Given the description of an element on the screen output the (x, y) to click on. 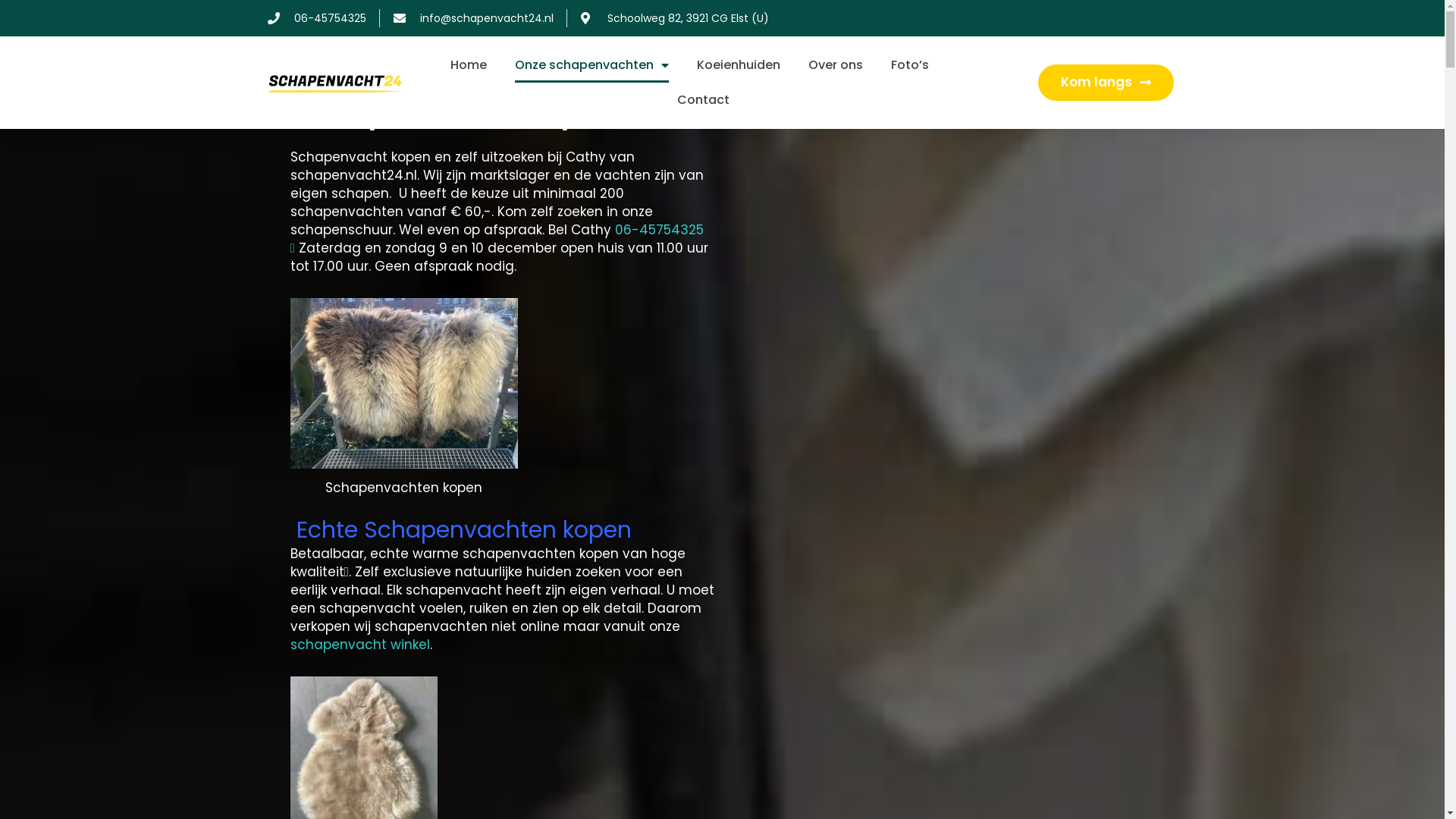
Home Element type: text (468, 64)
Over ons Element type: text (835, 64)
info@schapenvacht24.nl Element type: text (472, 18)
Kom langs Element type: text (1105, 82)
Onze schapenvachten Element type: text (591, 64)
Contact Element type: text (703, 99)
06-45754325 Element type: text (315, 18)
Koeienhuiden Element type: text (738, 64)
schapenvacht winkel Element type: text (359, 644)
Schoolweg 82, 3921 CG Elst (U) Element type: text (674, 18)
